Given the description of an element on the screen output the (x, y) to click on. 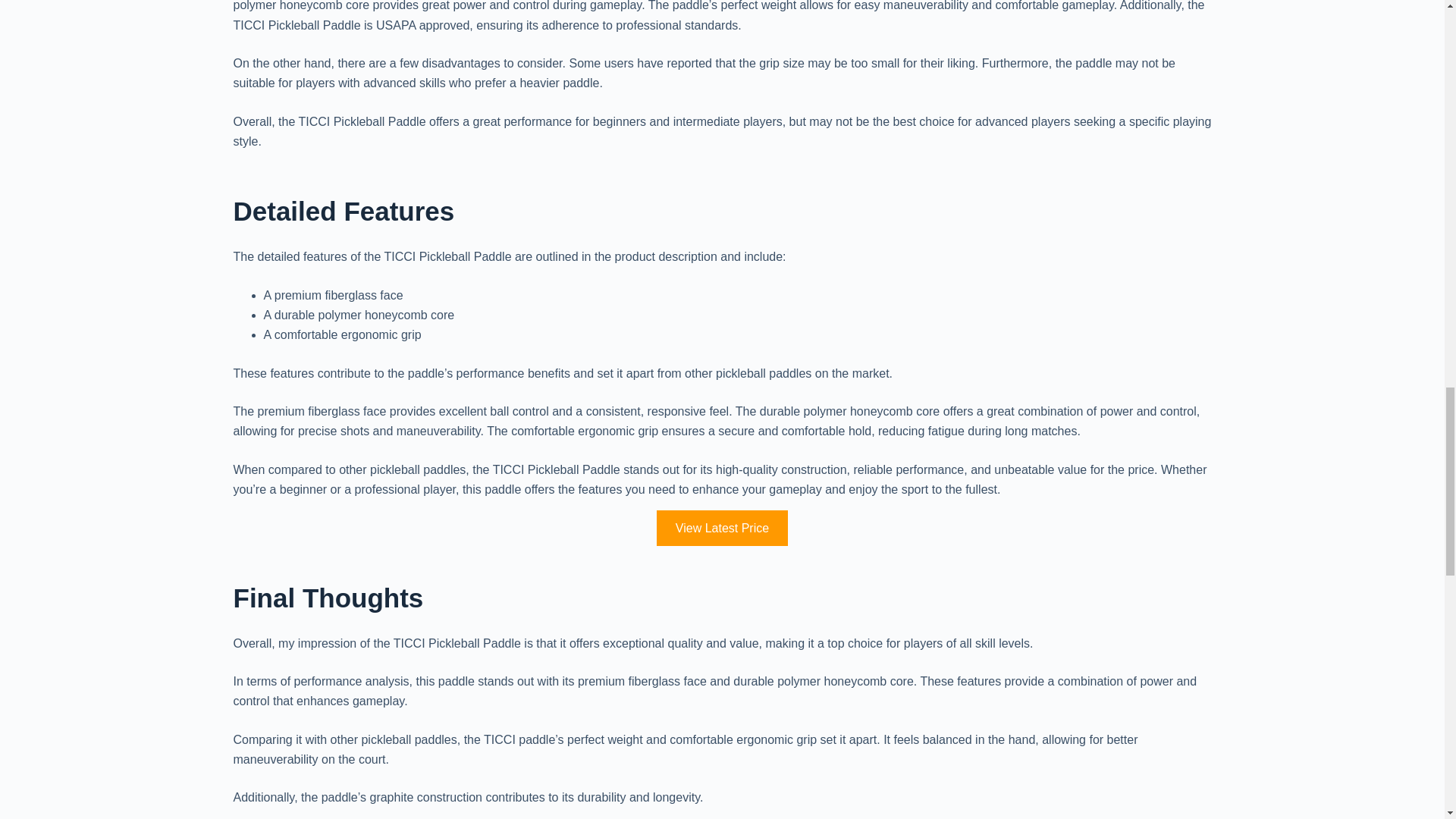
View Latest Price (721, 528)
